Given the description of an element on the screen output the (x, y) to click on. 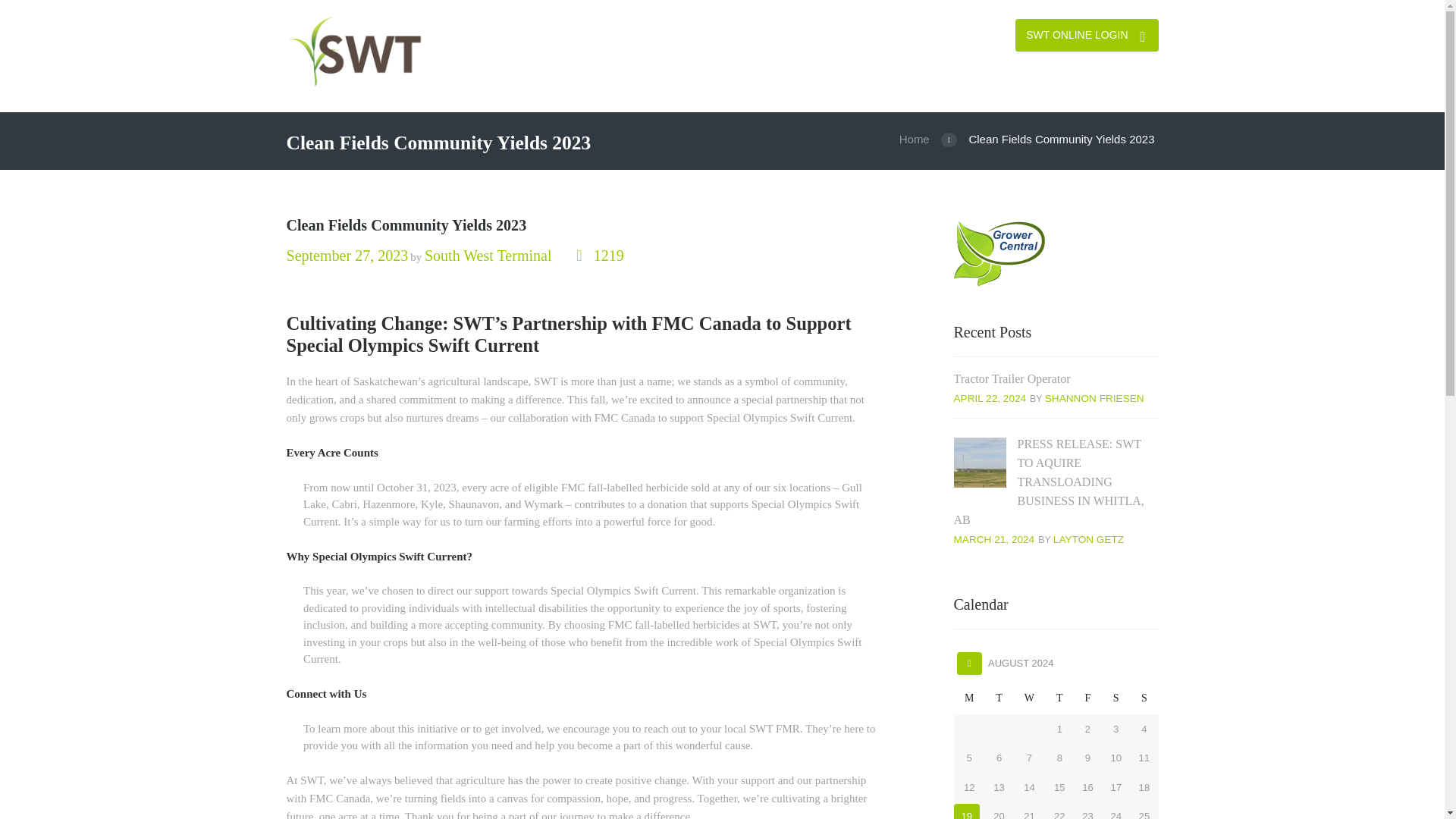
September 27, 2023 (347, 255)
View posts for April 2024 (969, 663)
South West Terminal (488, 255)
Views - 1219 (599, 255)
MARCH 21, 2024 (994, 539)
Tractor Trailer Operator (1011, 378)
Monday (969, 698)
APRIL 22, 2024 (989, 398)
SHANNON FRIESEN (1094, 398)
Home (914, 139)
